Given the description of an element on the screen output the (x, y) to click on. 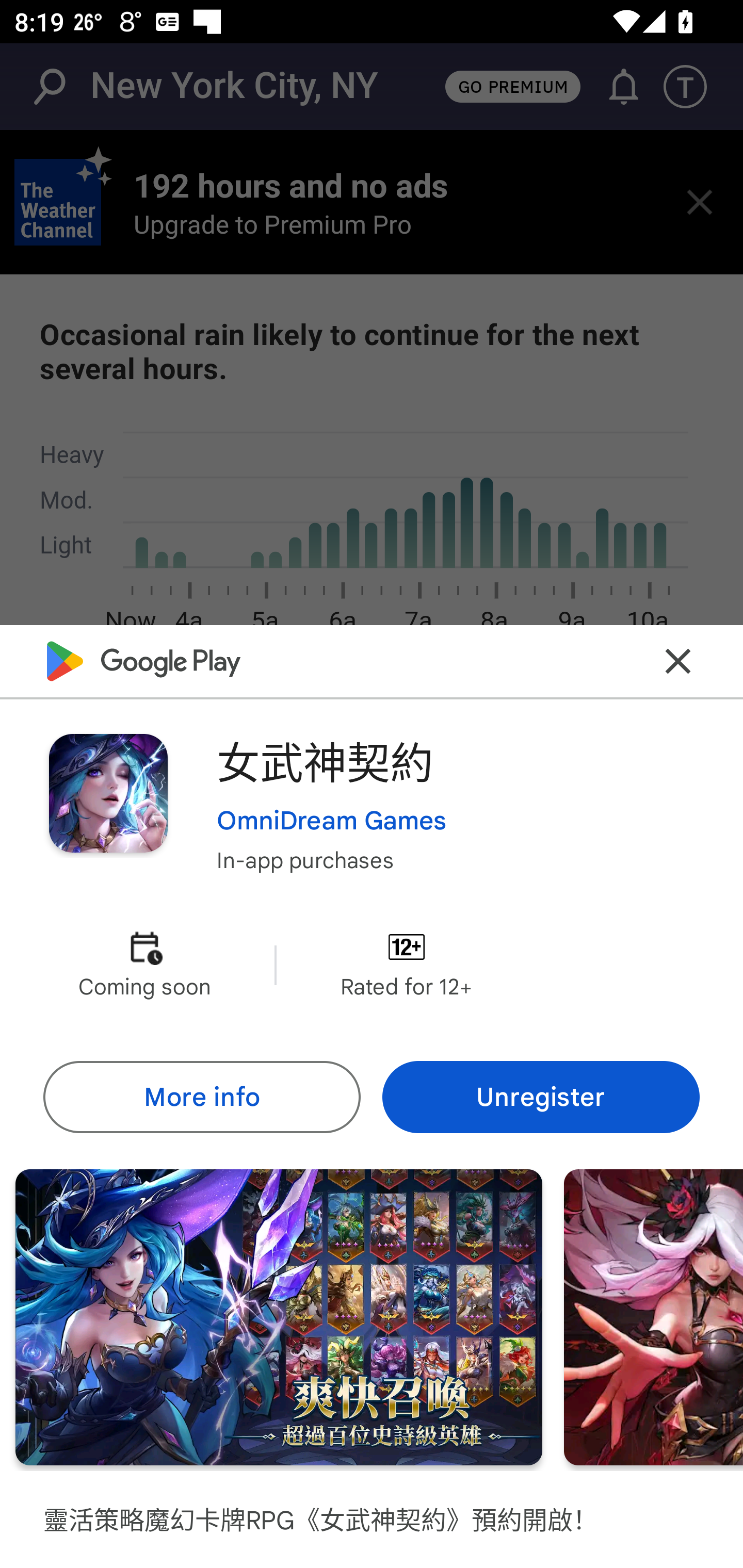
Close (677, 661)
Image of app or game icon for 女武神契約 (108, 792)
OmniDream Games (331, 820)
More info (201, 1097)
Unregister (540, 1097)
Screenshot "2" of "5" (278, 1317)
Screenshot "3" of "5" (653, 1317)
